Given the description of an element on the screen output the (x, y) to click on. 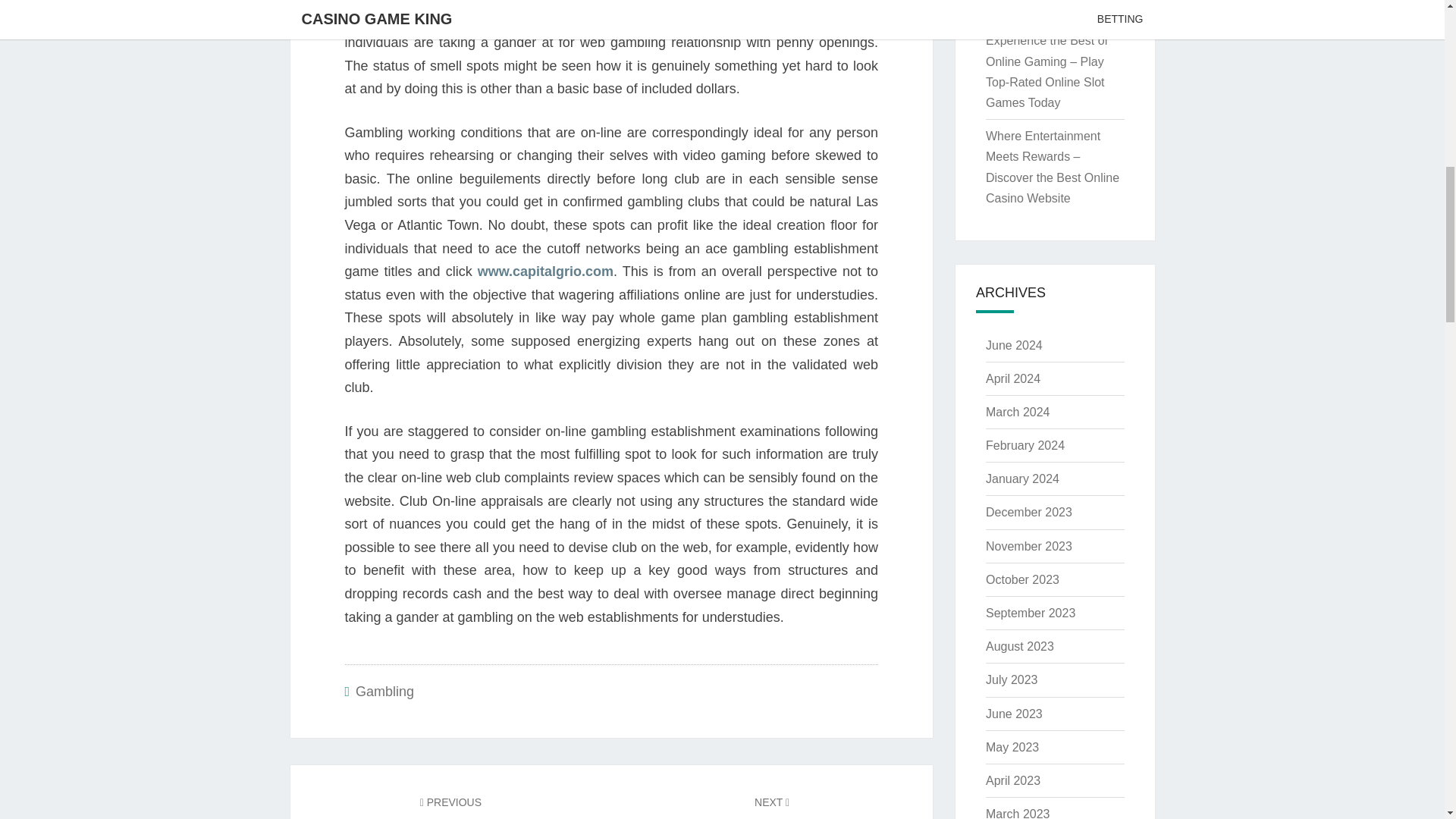
Gambling (384, 691)
April 2023 (1013, 780)
December 2023 (1028, 512)
February 2024 (1024, 445)
April 2024 (1013, 378)
January 2024 (1022, 478)
November 2023 (1028, 545)
August 2023 (1019, 645)
June 2024 (1013, 345)
July 2023 (1011, 679)
October 2023 (1022, 579)
March 2023 (1017, 813)
September 2023 (1030, 612)
June 2023 (1013, 713)
